Given the description of an element on the screen output the (x, y) to click on. 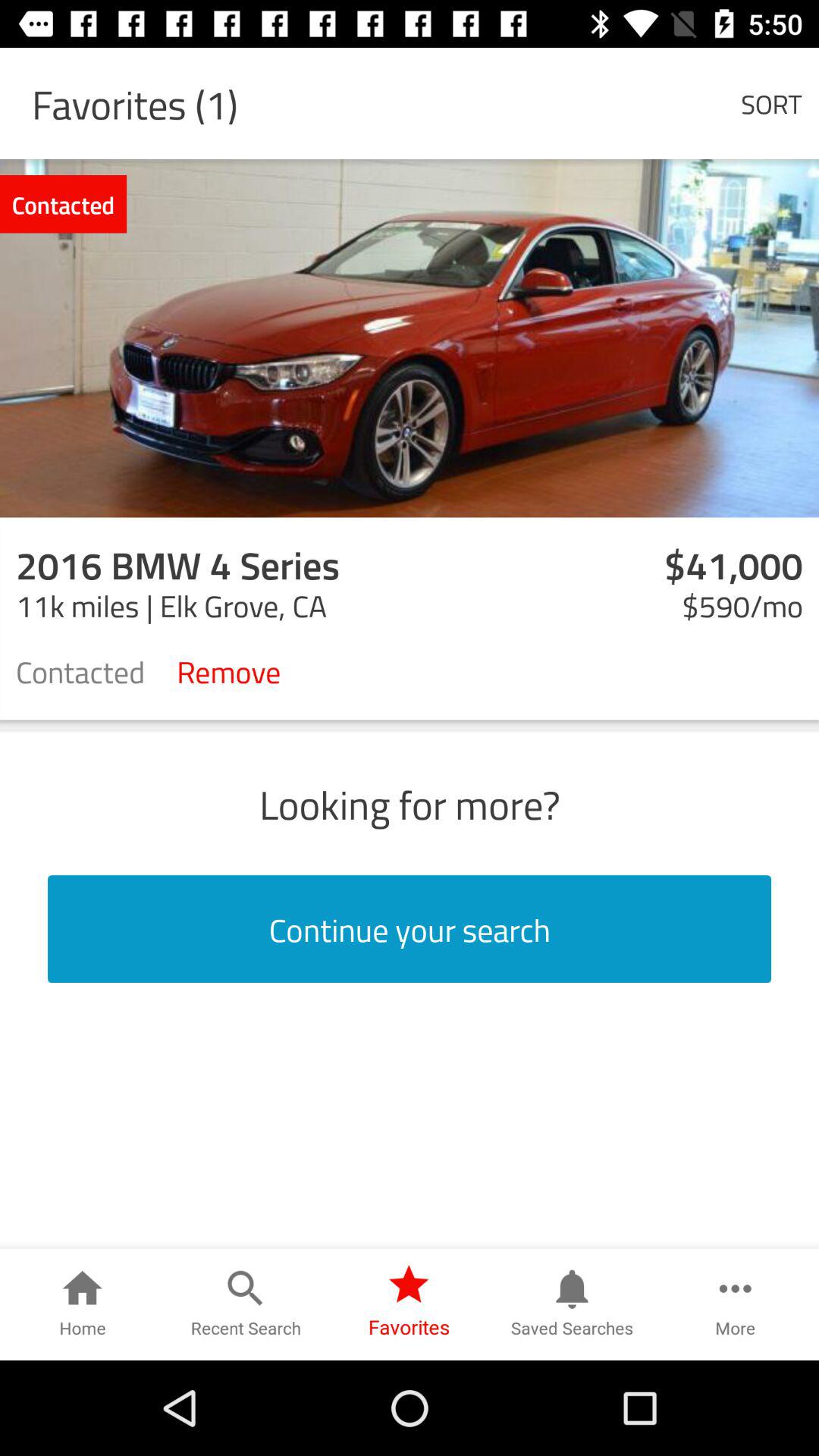
tap the remove (228, 671)
